Given the description of an element on the screen output the (x, y) to click on. 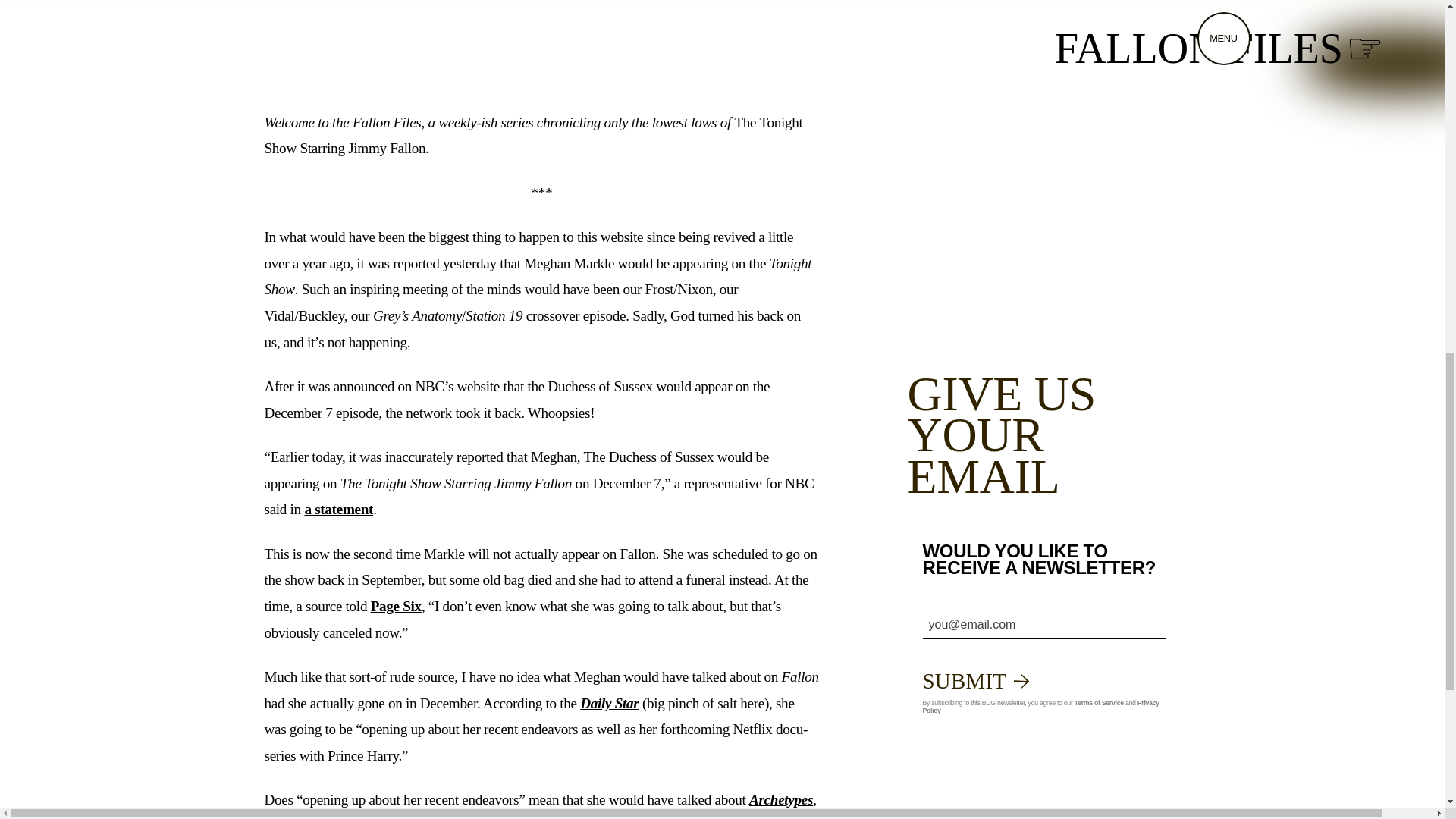
Page Six (396, 606)
Terms of Service (1099, 702)
FALLON FILES (1219, 49)
SUBMIT (975, 681)
Archetypes (780, 799)
a statement (338, 508)
Daily Star (609, 703)
Privacy Policy (1039, 706)
